Given the description of an element on the screen output the (x, y) to click on. 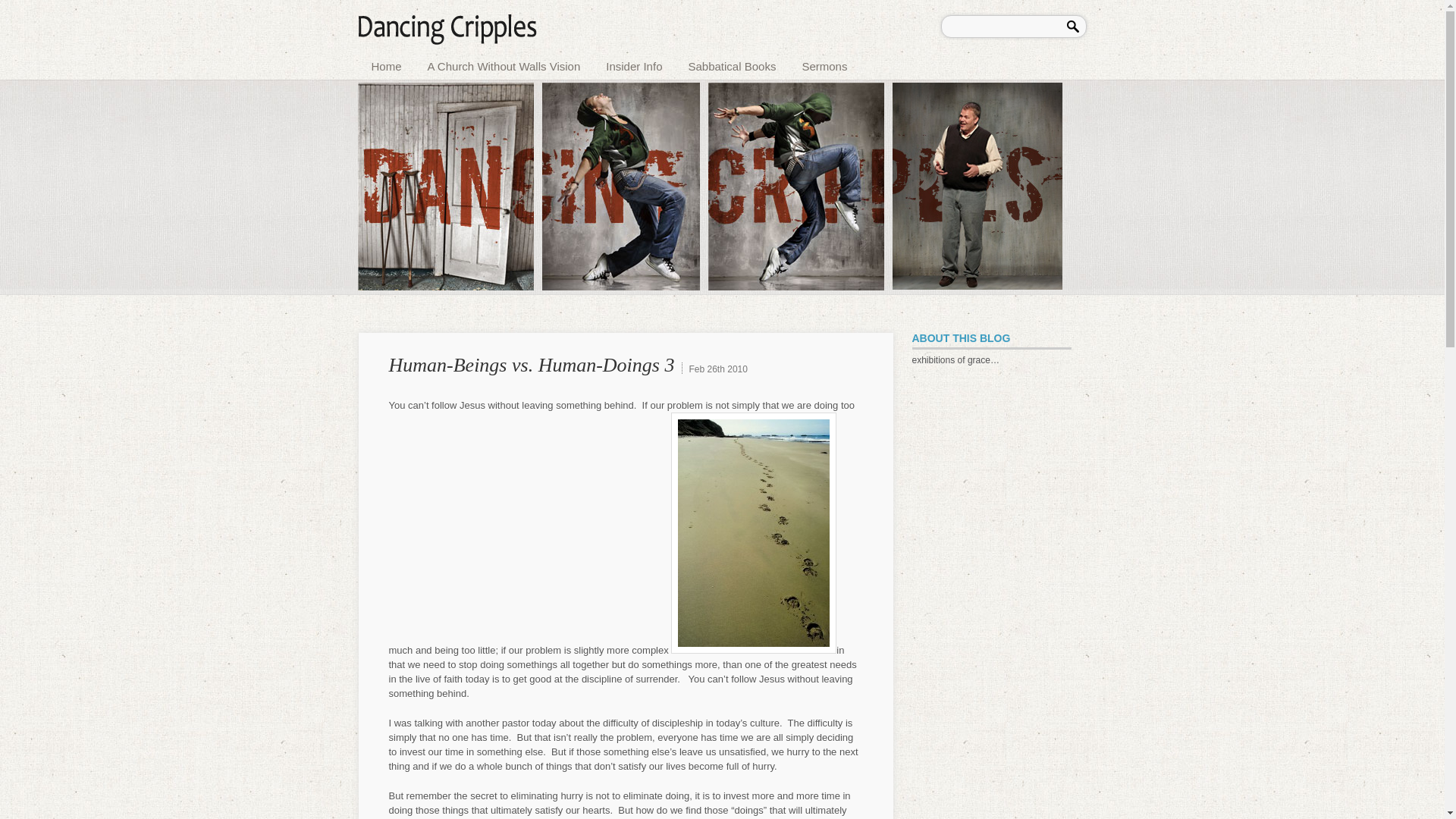
A Church Without Walls Vision (504, 64)
Search (1074, 23)
Sermons (824, 64)
Home (386, 64)
Insider Info (633, 64)
Sabbatical Books (731, 64)
Human-Beings vs. Human-Doings 3 (531, 364)
Search (1074, 23)
